Given the description of an element on the screen output the (x, y) to click on. 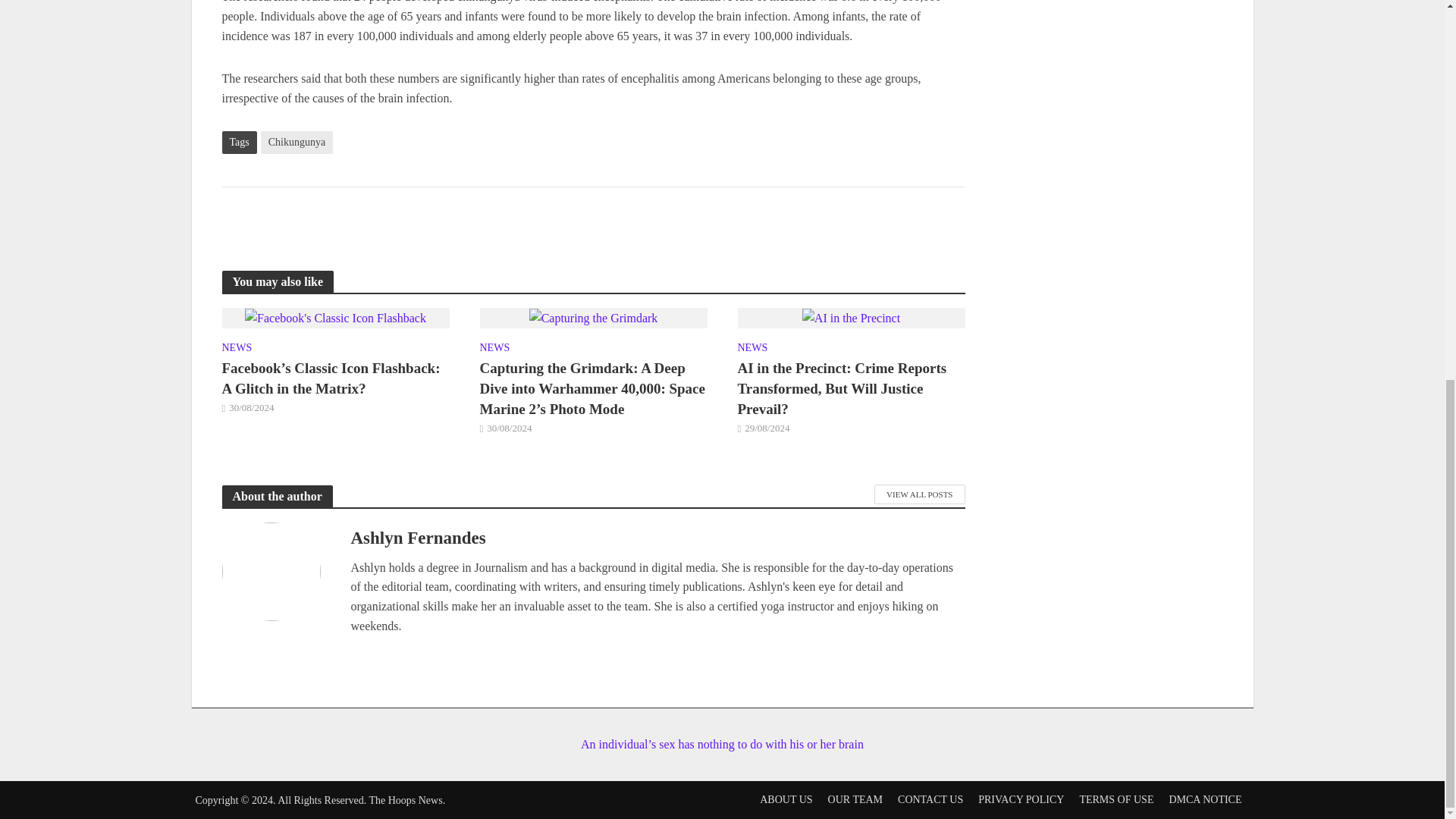
Chikungunya (296, 142)
NEWS (236, 349)
VIEW ALL POSTS (919, 494)
NEWS (751, 349)
Facebook's Classic Icon Flashback: A Glitch in the Matrix? 1 (335, 318)
NEWS (494, 349)
